Given the description of an element on the screen output the (x, y) to click on. 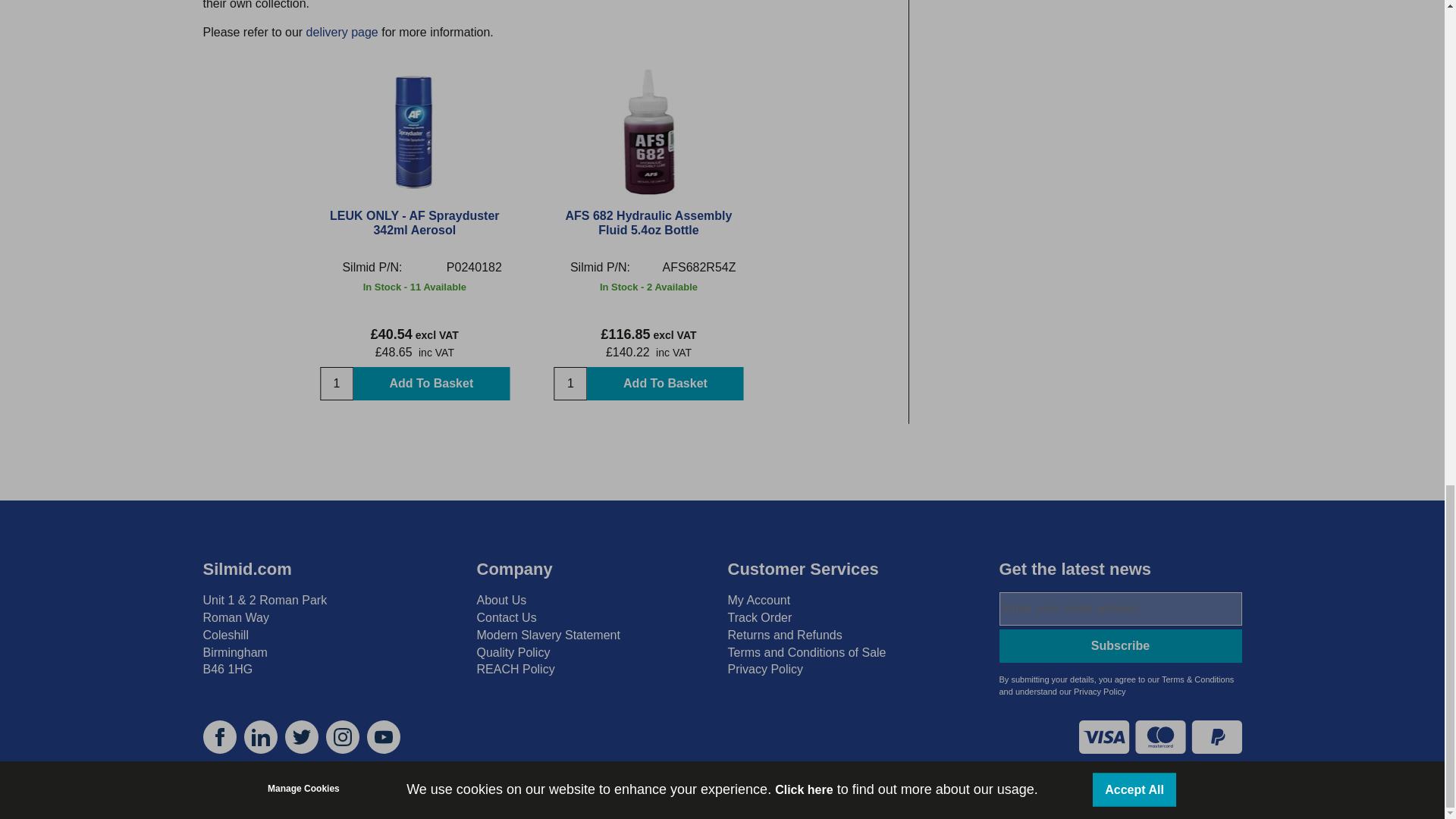
1 (336, 383)
Add To Basket (431, 383)
Add To Basket (664, 383)
1 (569, 383)
